Given the description of an element on the screen output the (x, y) to click on. 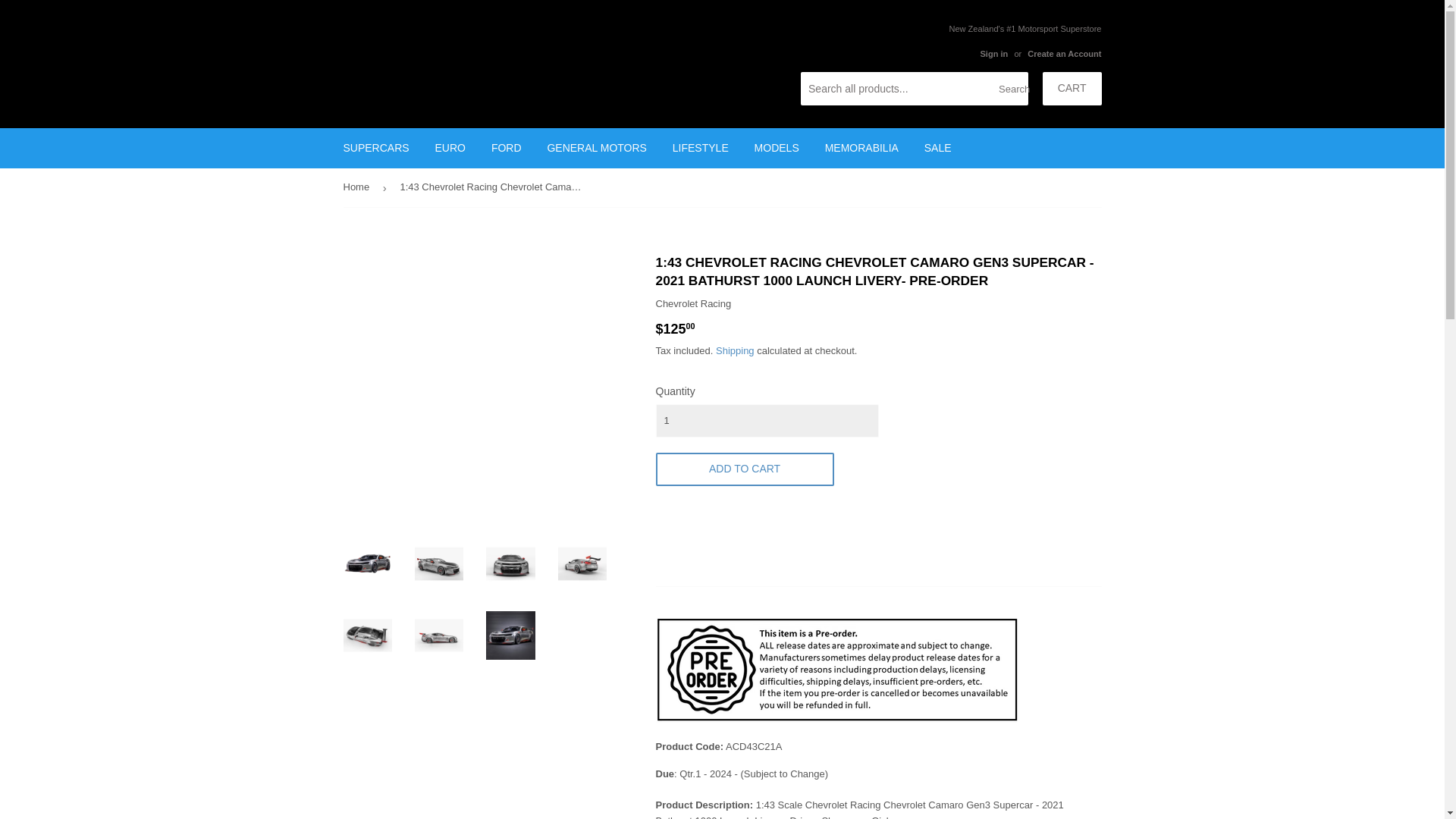
Search (1010, 89)
Back to the frontpage (358, 187)
1 (766, 420)
Sign in (993, 53)
CART (1072, 88)
Create an Account (1063, 53)
